Given the description of an element on the screen output the (x, y) to click on. 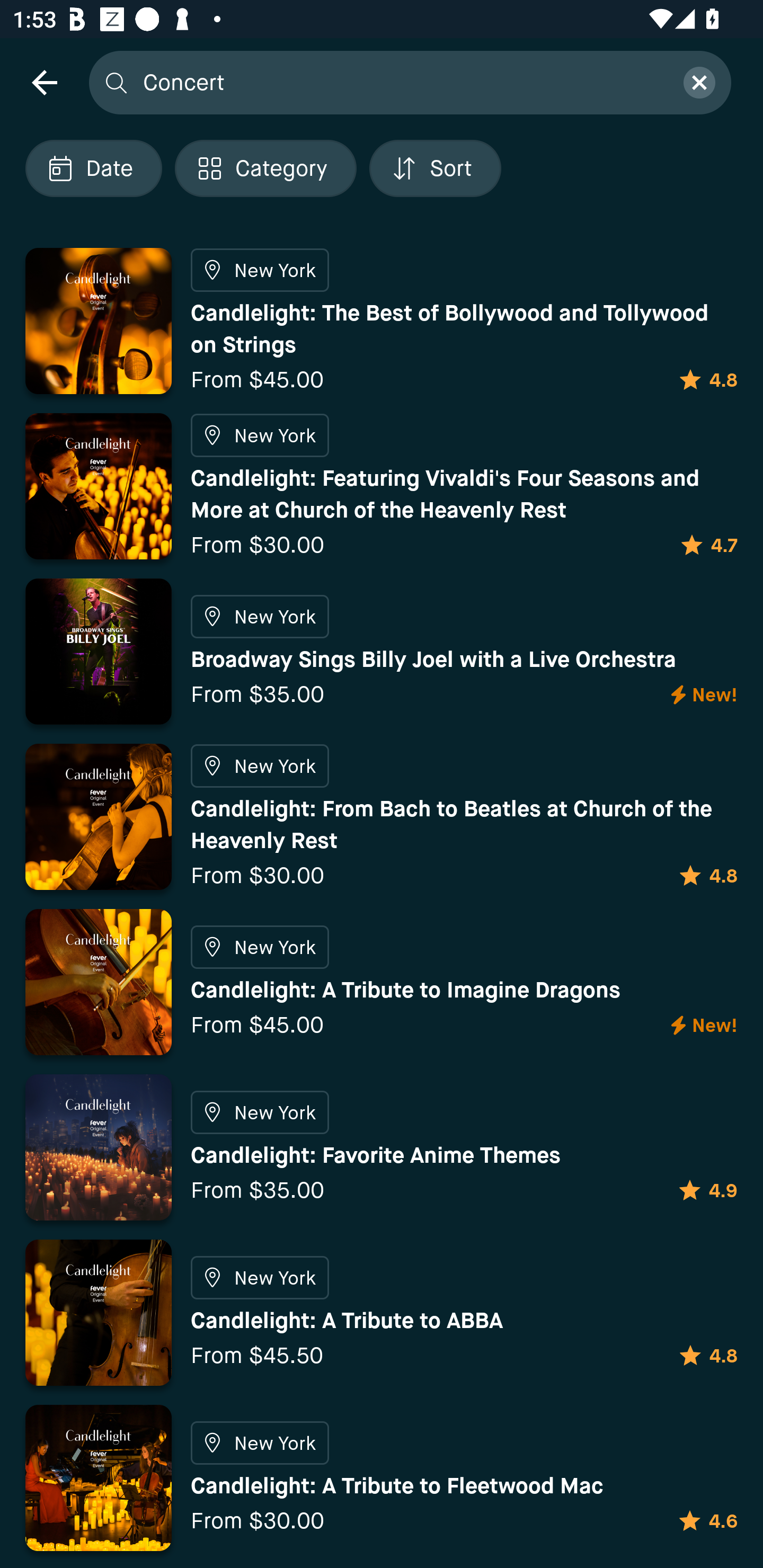
navigation icon (44, 81)
Concert (402, 81)
Localized description Date (93, 168)
Localized description Category (265, 168)
Localized description Sort (435, 168)
